Given the description of an element on the screen output the (x, y) to click on. 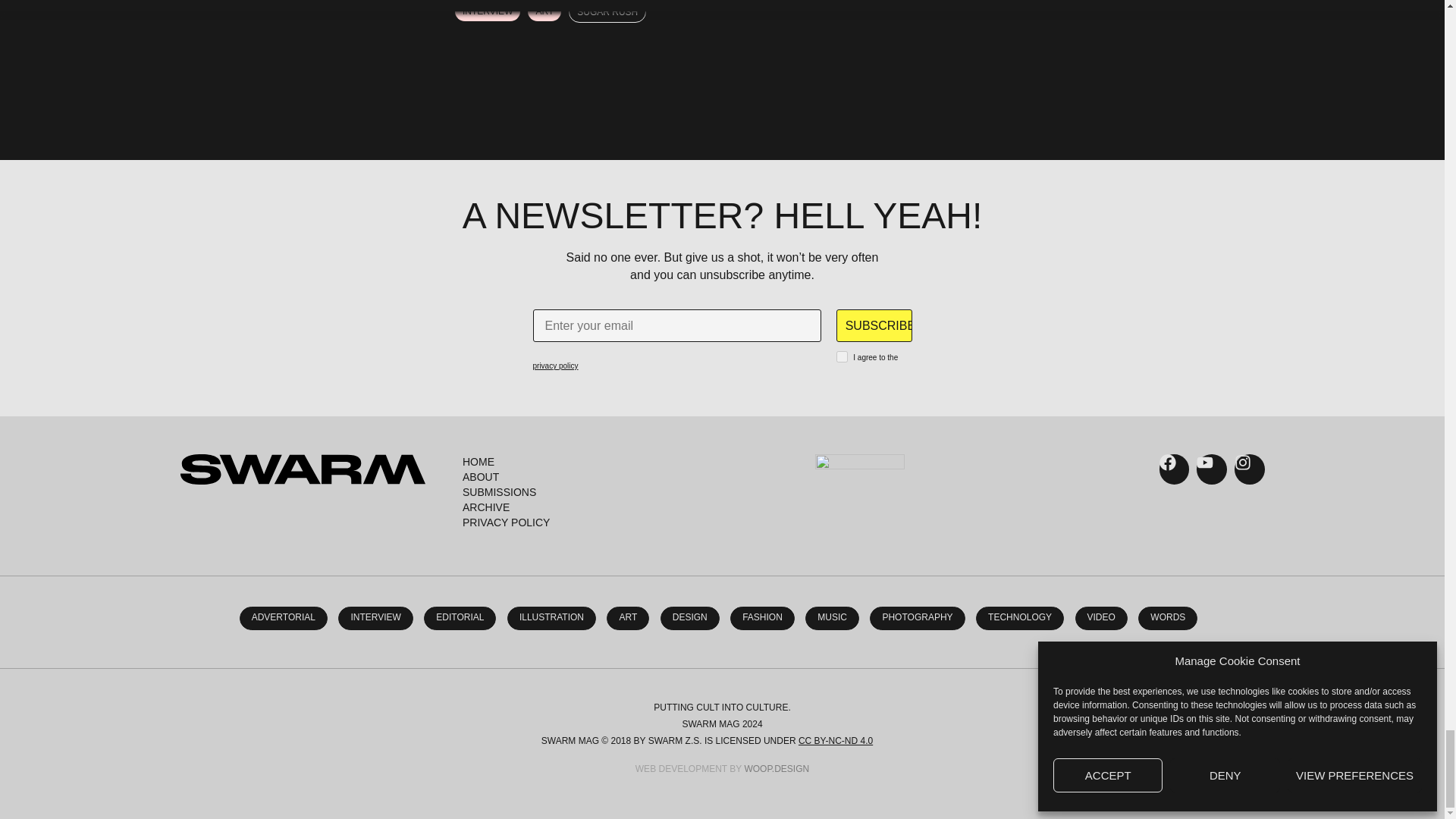
on (841, 356)
Subscribe (873, 325)
